Given the description of an element on the screen output the (x, y) to click on. 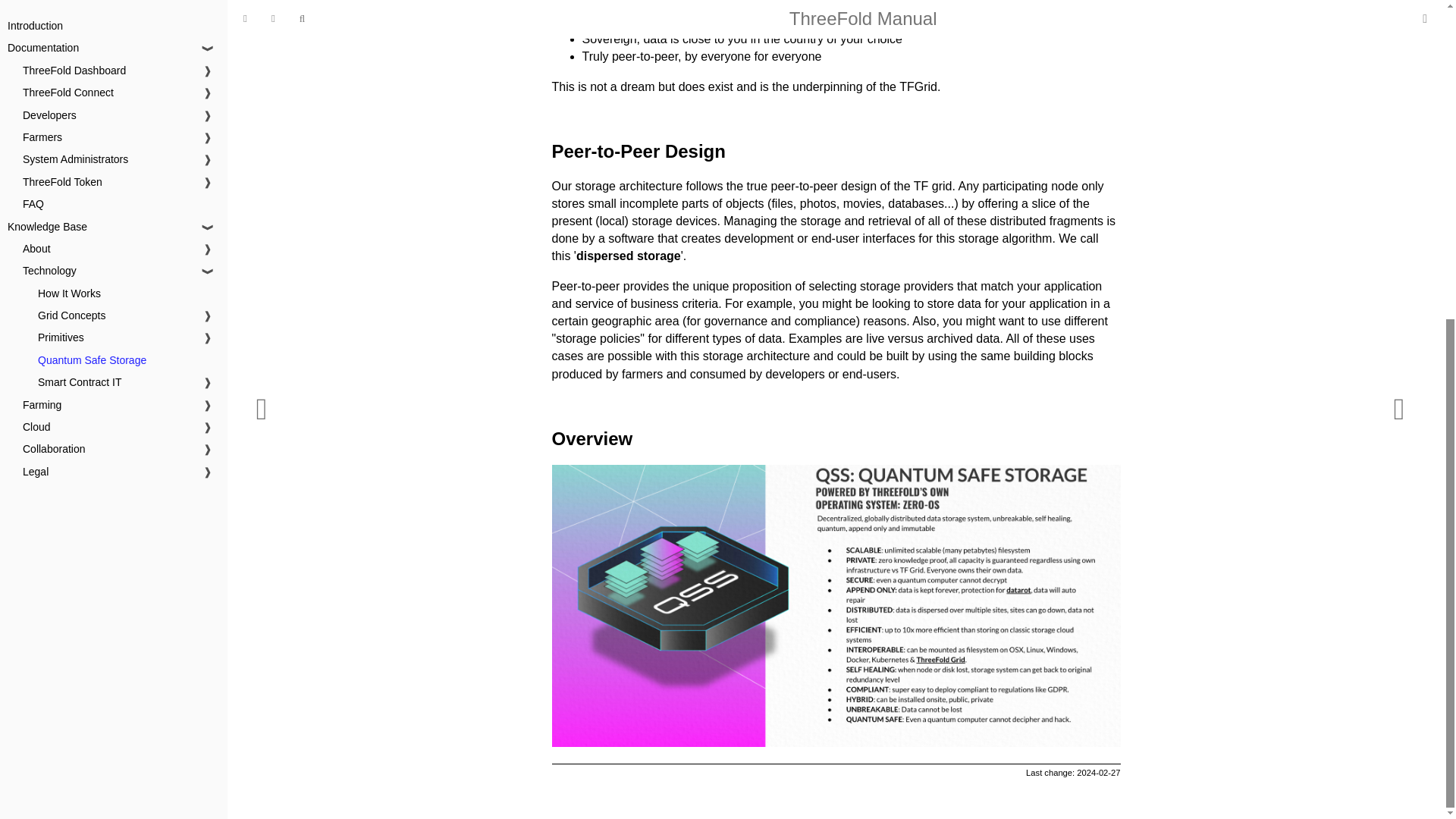
Next chapter (1398, 151)
Previous chapter (261, 151)
